Given the description of an element on the screen output the (x, y) to click on. 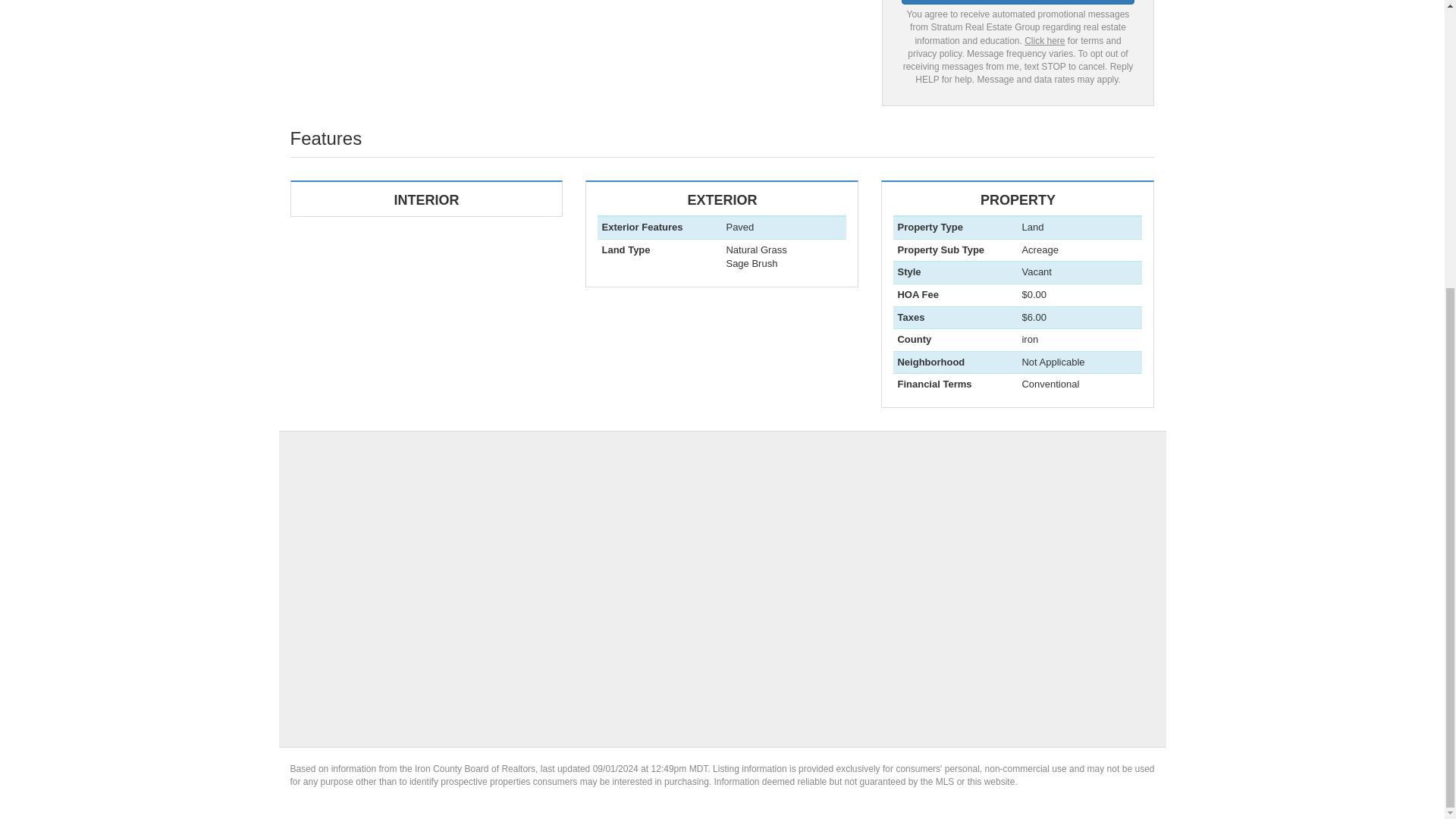
INTERIOR (720, 251)
